Given the description of an element on the screen output the (x, y) to click on. 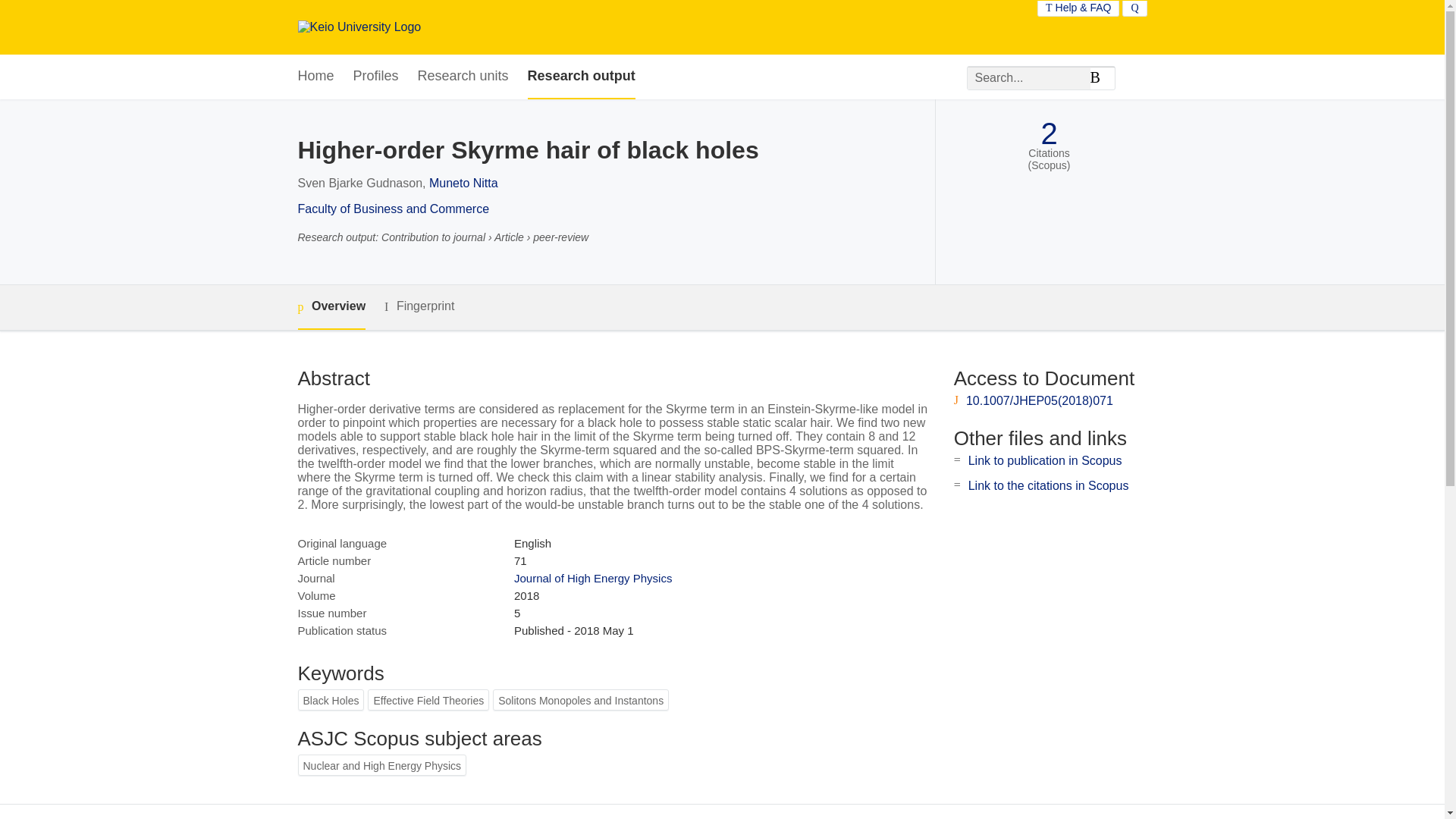
Faculty of Business and Commerce (393, 208)
Link to publication in Scopus (1045, 460)
Journal of High Energy Physics (592, 577)
Profiles (375, 76)
Fingerprint (419, 306)
Keio University Home (358, 27)
Overview (331, 307)
Link to the citations in Scopus (1048, 485)
Research output (580, 76)
